Given the description of an element on the screen output the (x, y) to click on. 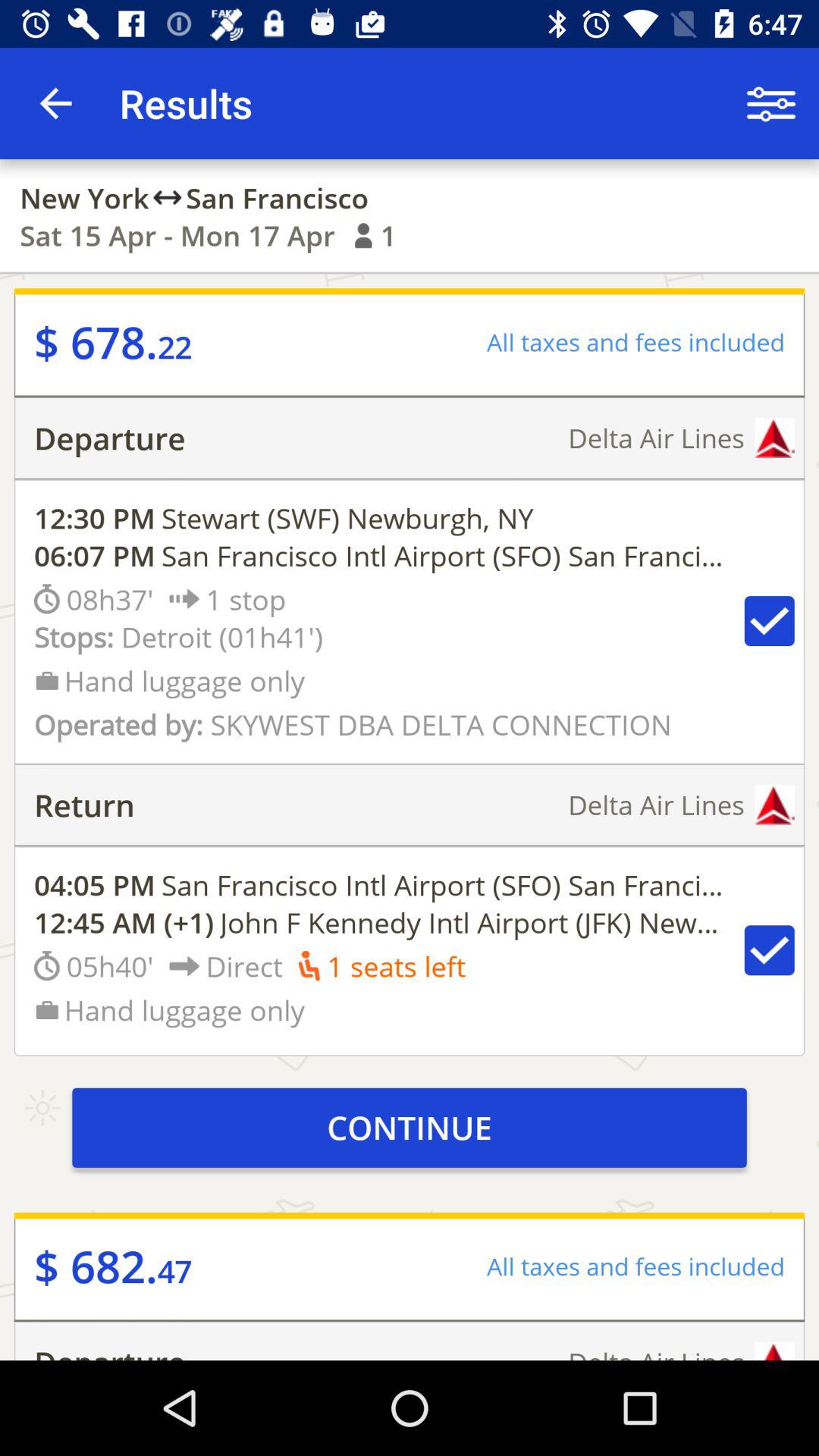
turn off icon above the new york icon (55, 103)
